Given the description of an element on the screen output the (x, y) to click on. 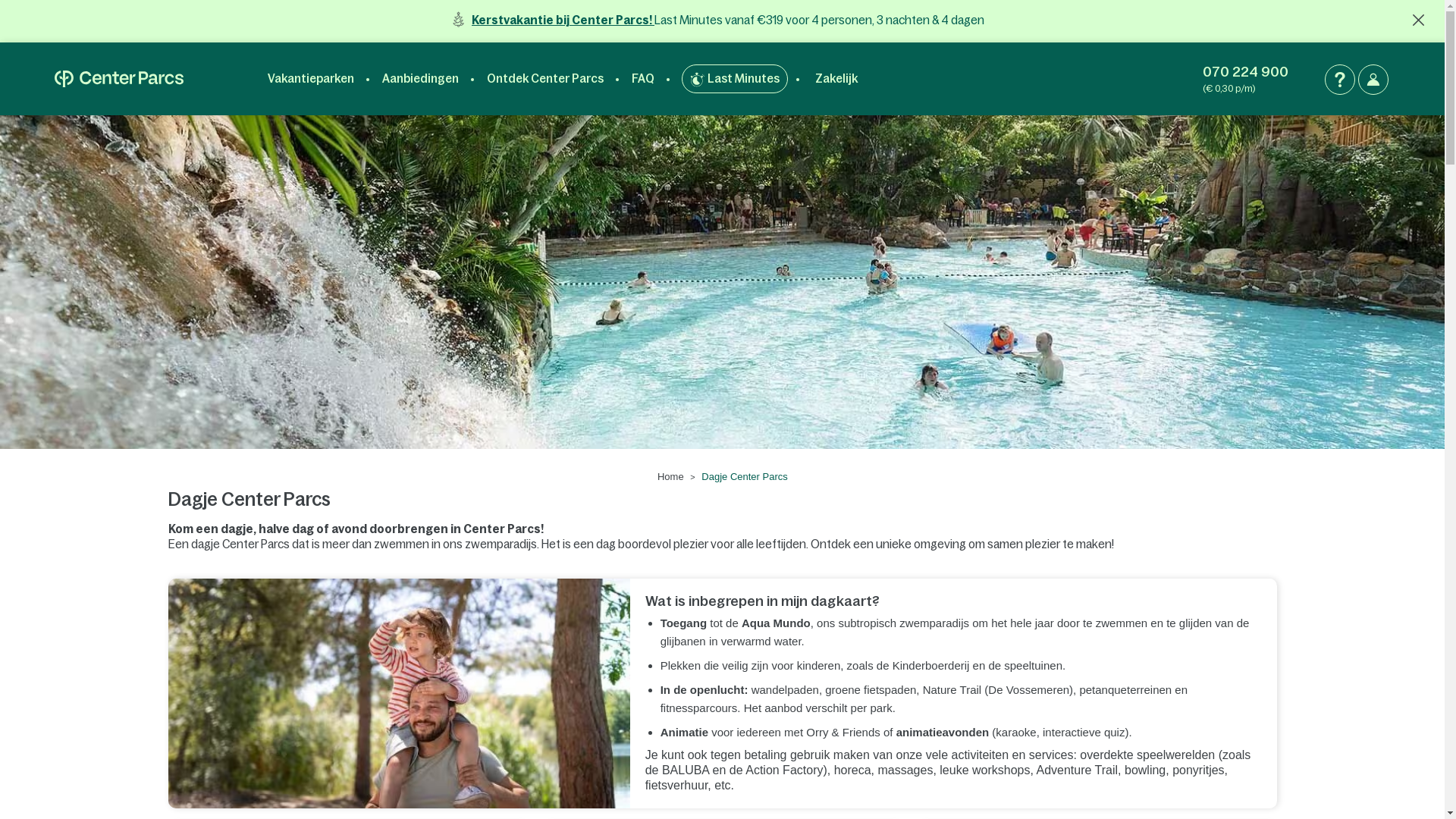
Ontdek Center Parcs Element type: text (544, 78)
Faq Element type: hover (1339, 79)
Zakelijk Element type: text (836, 78)
Aanbiedingen Element type: text (420, 78)
Vakantieparken Element type: text (310, 78)
Kerstvakantie bij Center Parcs!  Element type: text (562, 19)
Last Minutes Element type: text (734, 78)
Home Element type: text (670, 476)
FAQ Element type: text (642, 78)
